Given the description of an element on the screen output the (x, y) to click on. 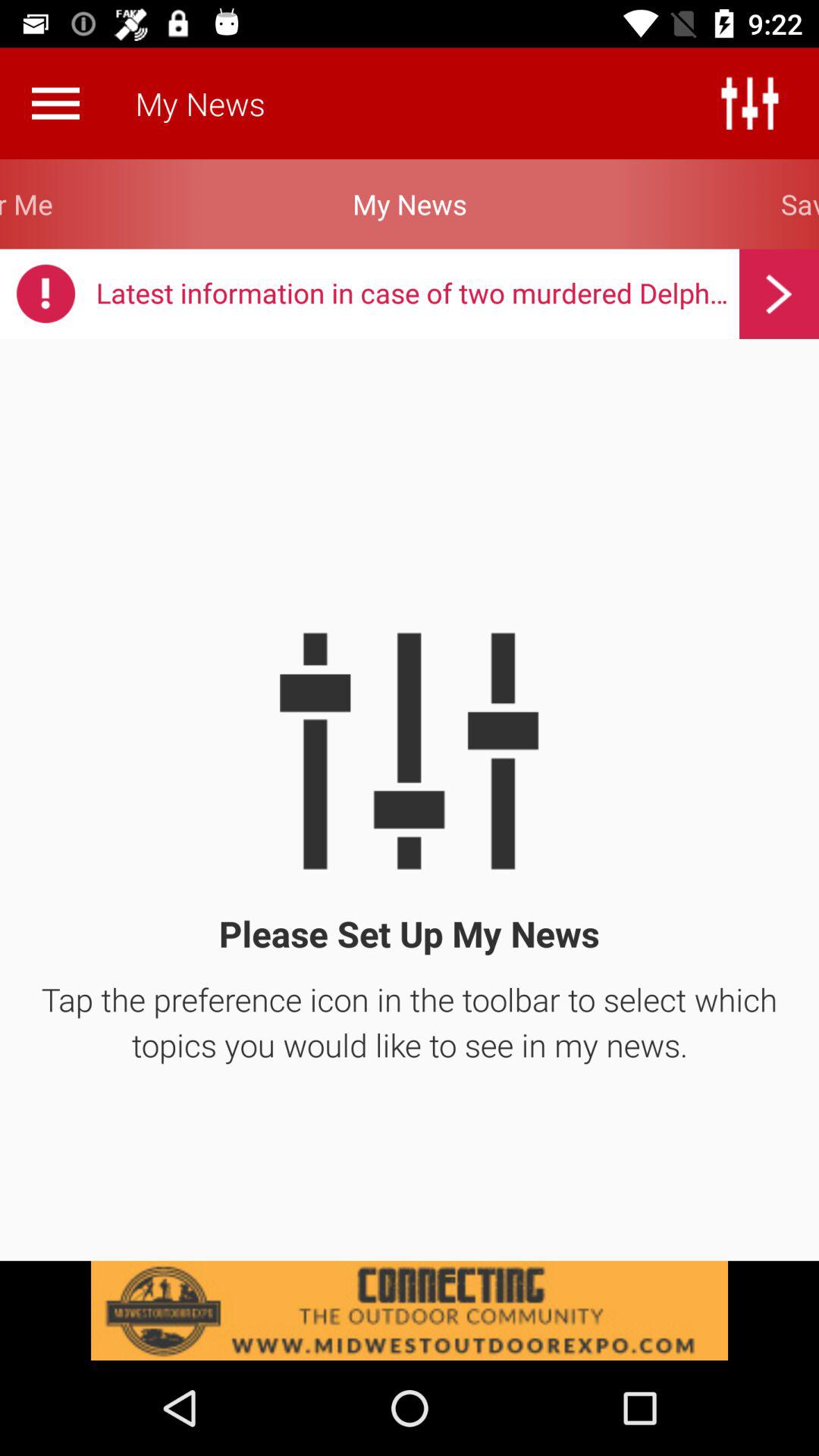
feature preferences (749, 102)
